Given the description of an element on the screen output the (x, y) to click on. 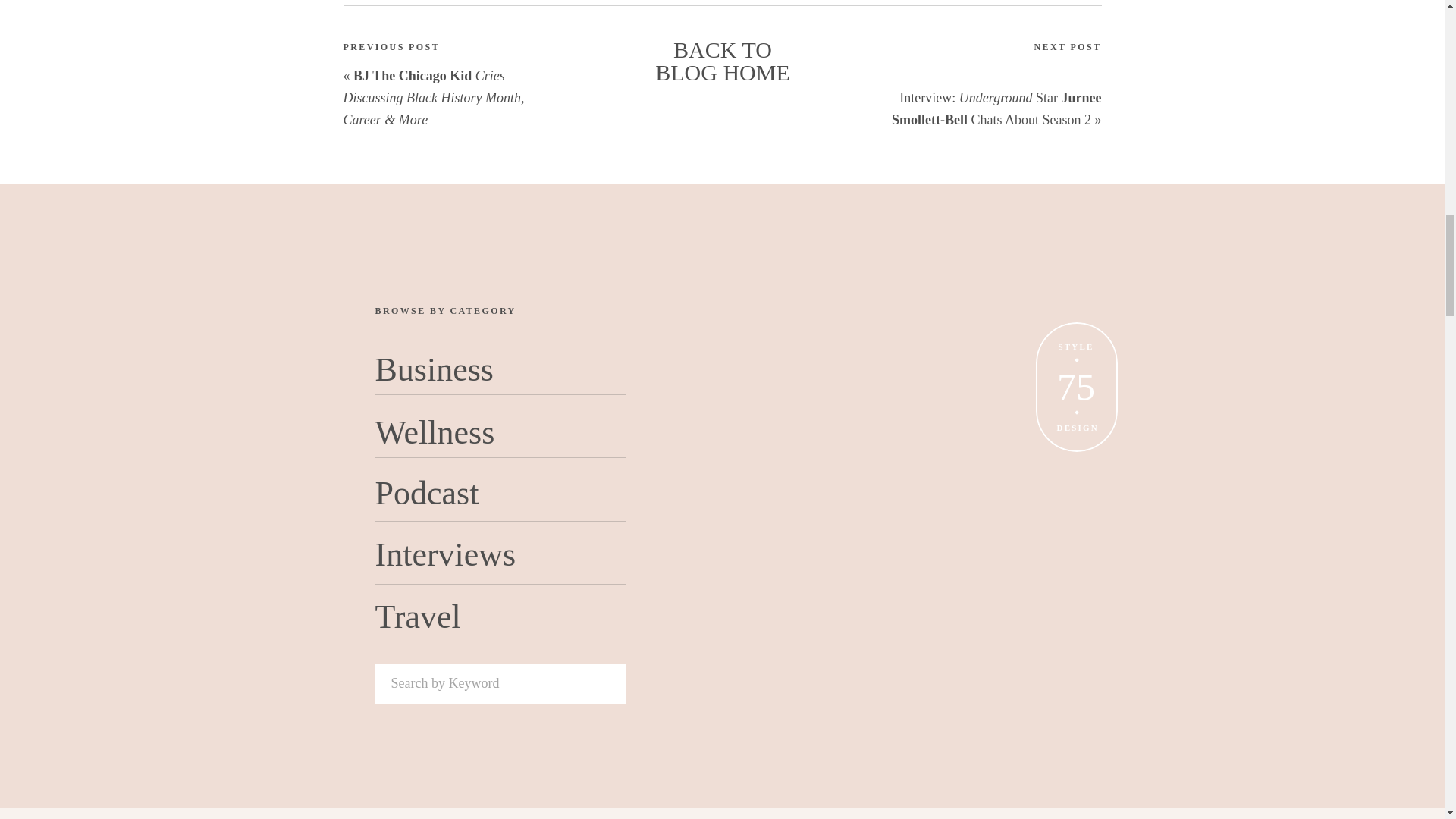
BACK TO BLOG HOME (722, 62)
Business (440, 368)
Glossier church-key subway tile squid, artisan pop-up (1047, 123)
Personal (1048, 87)
GIMME THAT (1053, 794)
Glossier church-key subway tile squid, artisan pop-up (1048, 442)
3 SECRETS TO A MORE PRODUCTIVE MORNING (1052, 600)
Wellness (443, 429)
For Entrepreneurs (1048, 404)
